Given the description of an element on the screen output the (x, y) to click on. 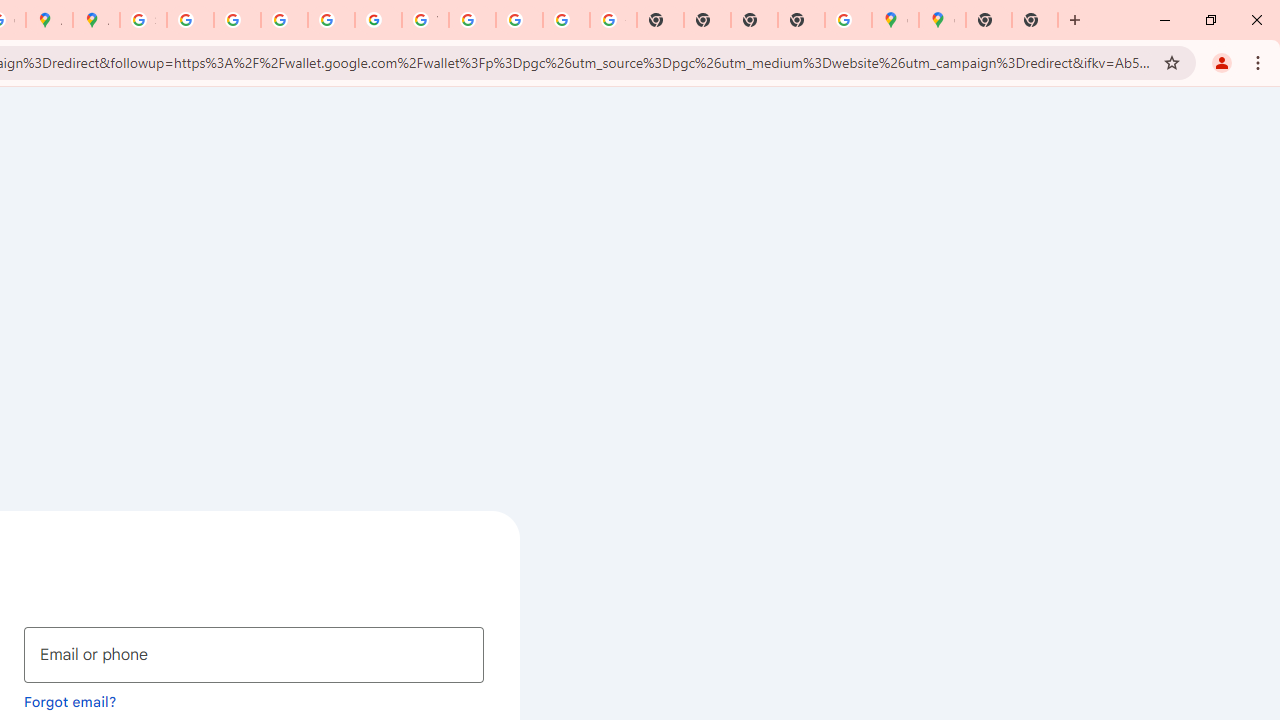
Forgot email? (70, 701)
YouTube (425, 20)
New Tab (1035, 20)
Privacy Help Center - Policies Help (237, 20)
